Given the description of an element on the screen output the (x, y) to click on. 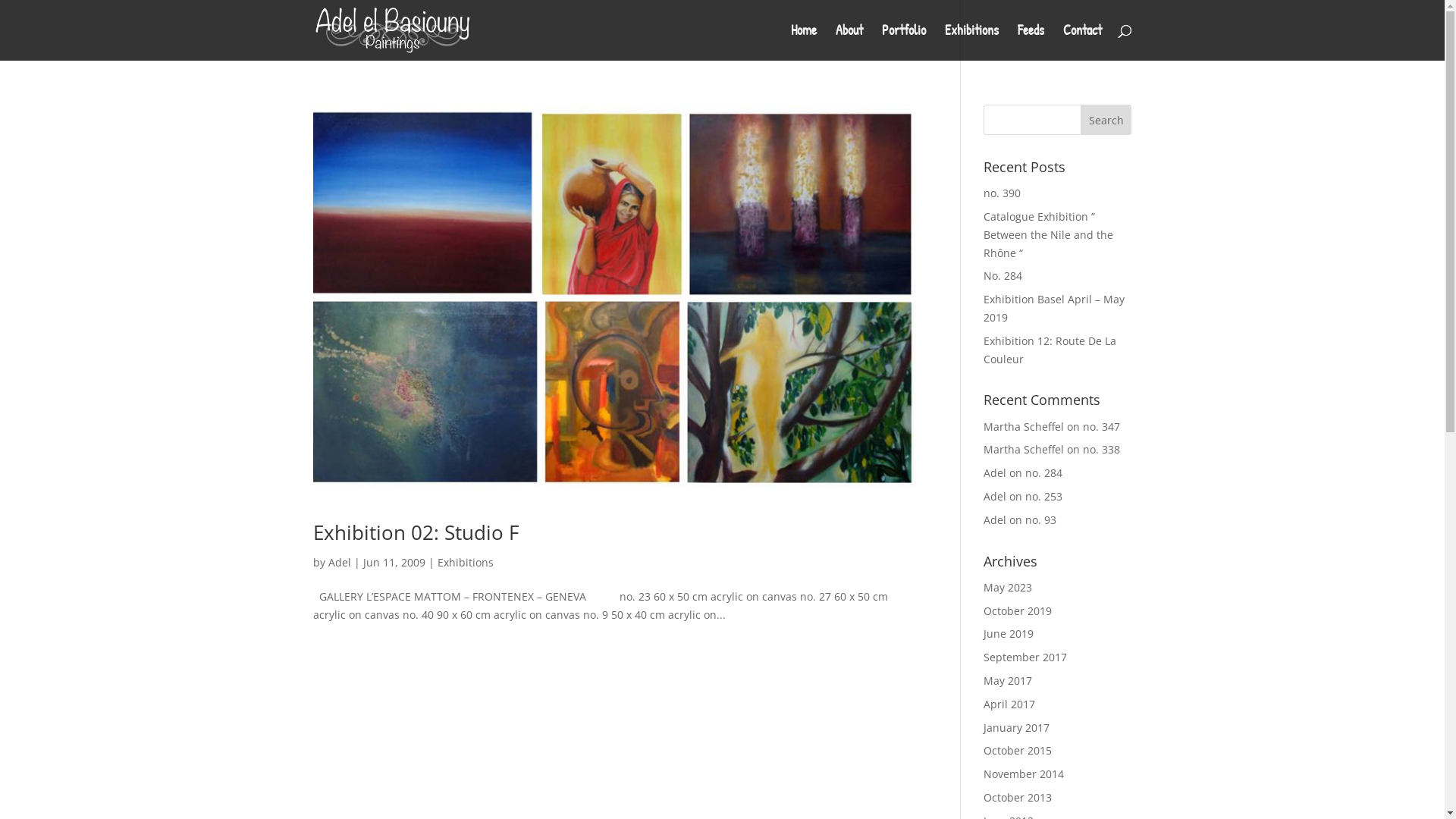
Exhibitions Element type: text (971, 42)
Exhibitions Element type: text (464, 562)
Portfolio Element type: text (903, 42)
Adel Element type: text (338, 562)
January 2017 Element type: text (1016, 727)
Home Element type: text (802, 42)
Exhibition 02: Studio F Element type: text (414, 532)
no. 338 Element type: text (1101, 449)
October 2015 Element type: text (1017, 750)
October 2019 Element type: text (1017, 610)
June 2019 Element type: text (1008, 633)
September 2017 Element type: text (1024, 656)
no. 347 Element type: text (1101, 426)
Feeds Element type: text (1030, 42)
Search Element type: text (1106, 119)
no. 284 Element type: text (1043, 472)
no. 390 Element type: text (1001, 192)
Exhibition 12: Route De La Couleur Element type: text (1049, 349)
Contact Element type: text (1082, 42)
April 2017 Element type: text (1009, 703)
October 2013 Element type: text (1017, 797)
no. 253 Element type: text (1043, 496)
May 2023 Element type: text (1007, 587)
May 2017 Element type: text (1007, 680)
No. 284 Element type: text (1002, 275)
no. 93 Element type: text (1040, 519)
About Element type: text (848, 42)
November 2014 Element type: text (1023, 773)
